Given the description of an element on the screen output the (x, y) to click on. 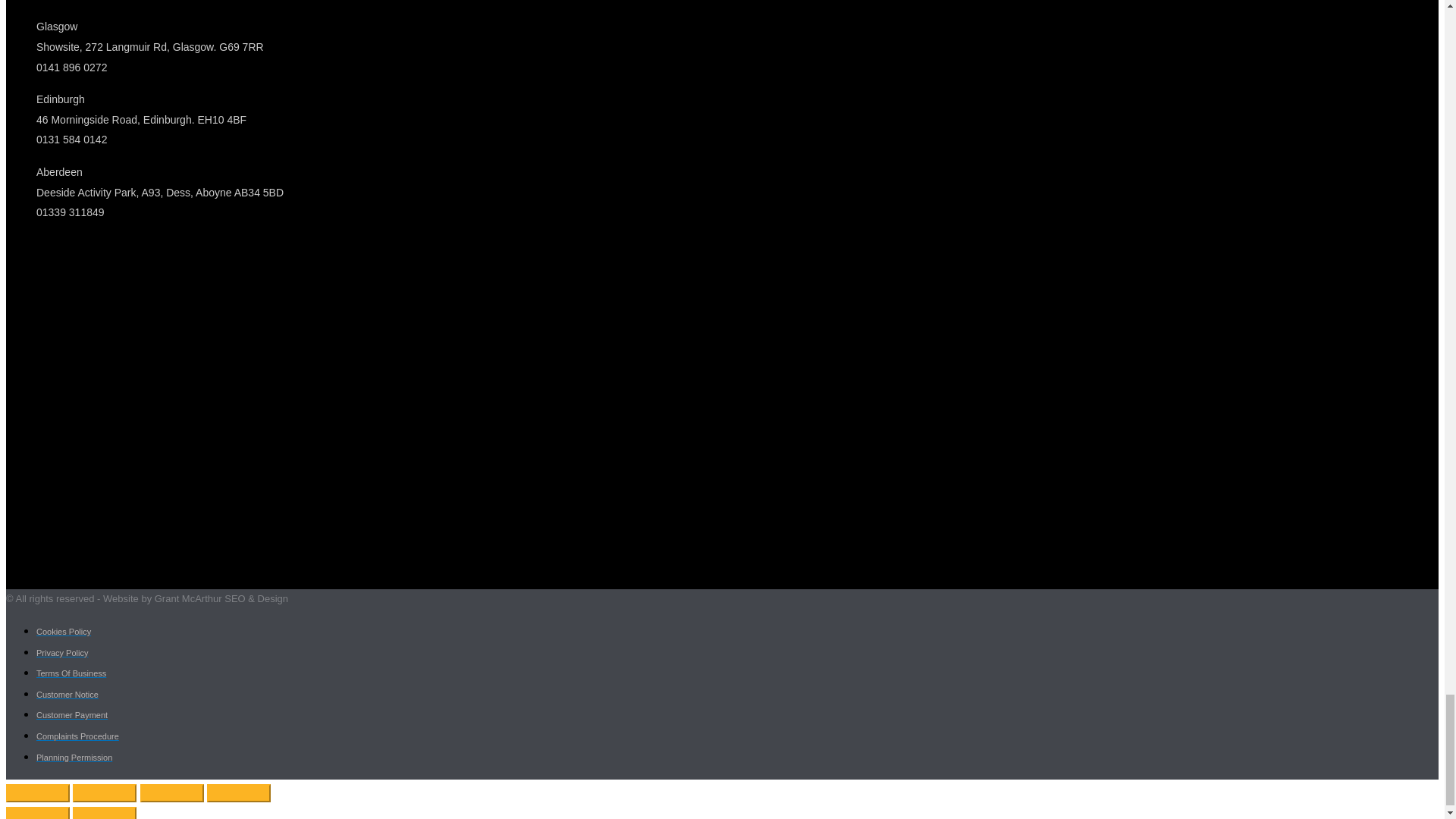
Complaints Procedure (77, 736)
Customer Notice (67, 694)
Customer Payment (71, 714)
Privacy Policy (61, 652)
Cookies Policy (63, 631)
Terms Of Business (71, 673)
